Given the description of an element on the screen output the (x, y) to click on. 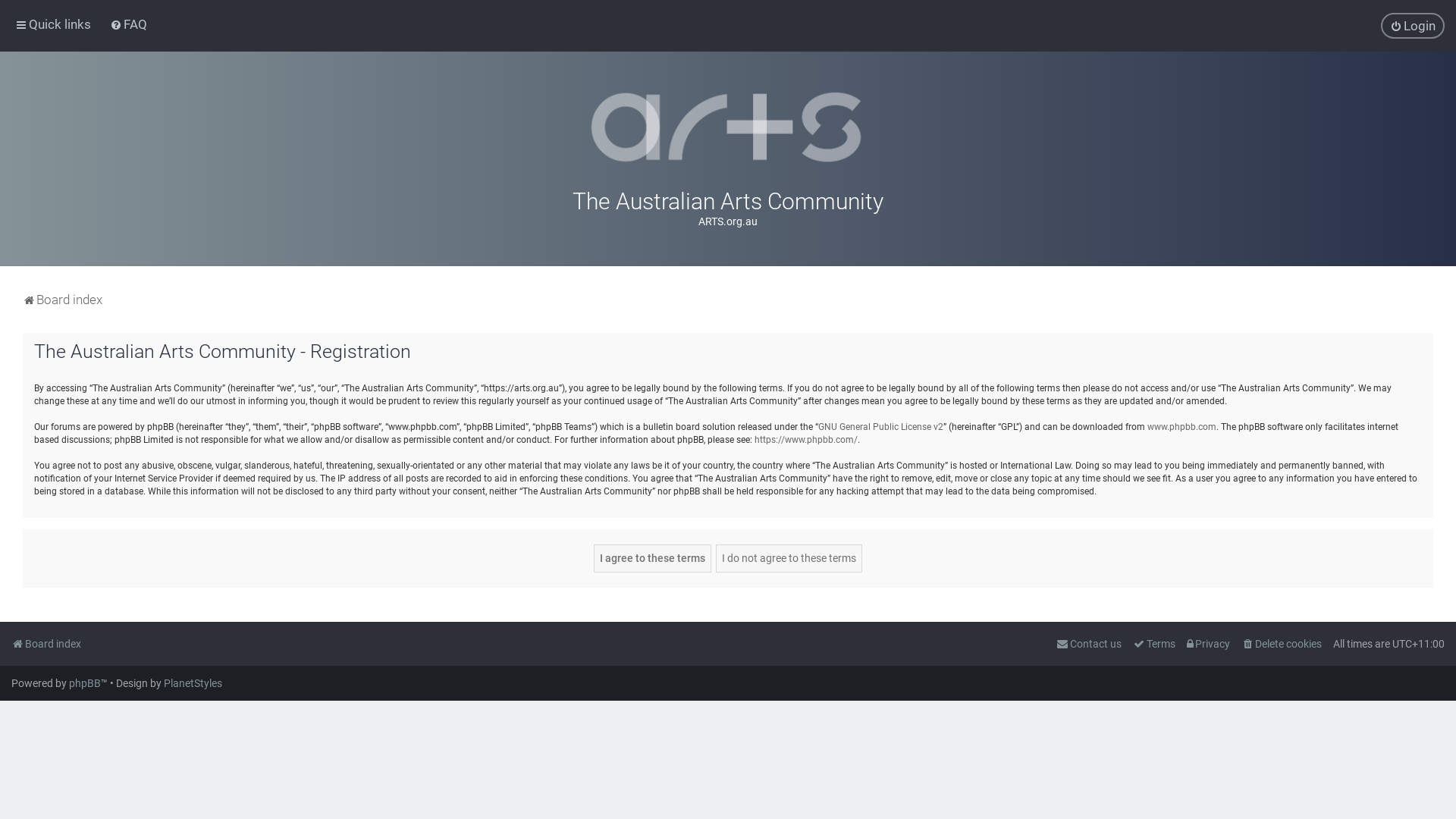
Contact us Element type: text (1088, 643)
I agree to these terms Element type: text (652, 558)
FAQ Element type: text (128, 23)
phpBB Element type: text (84, 683)
Terms Element type: text (1153, 643)
Privacy Element type: text (1208, 643)
www.phpbb.com Element type: text (1181, 426)
I do not agree to these terms Element type: text (788, 558)
PlanetStyles Element type: text (192, 683)
https://www.phpbb.com/ Element type: text (805, 439)
GNU General Public License v2 Element type: text (880, 426)
Board index Element type: text (62, 299)
Quick links Element type: text (52, 23)
Delete cookies Element type: text (1281, 643)
Board index Element type: hover (727, 127)
Board index Element type: text (46, 643)
Login Element type: text (1412, 25)
